Given the description of an element on the screen output the (x, y) to click on. 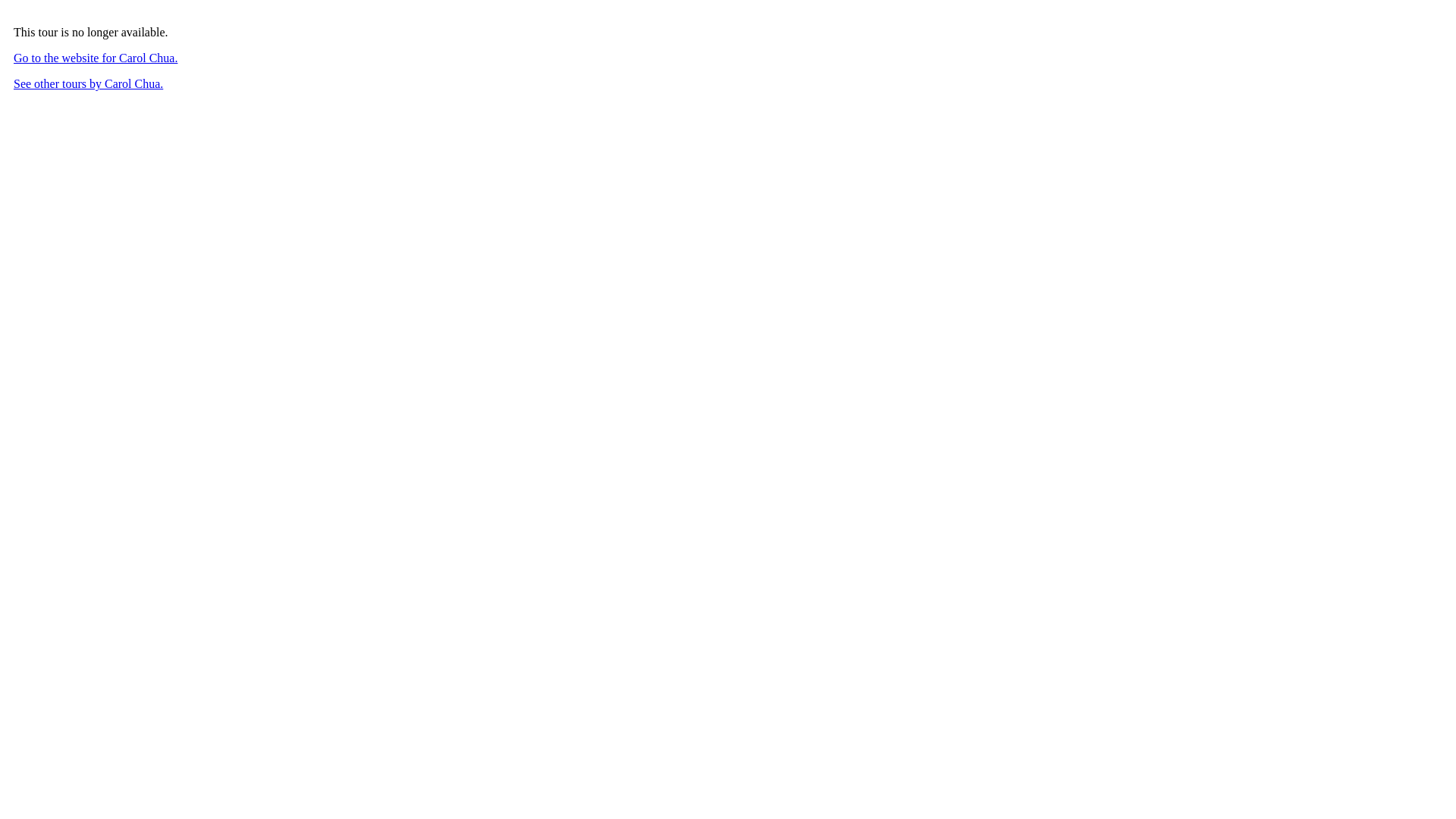
See other tours by Carol Chua. Element type: text (88, 83)
Go to the website for Carol Chua. Element type: text (95, 57)
